Given the description of an element on the screen output the (x, y) to click on. 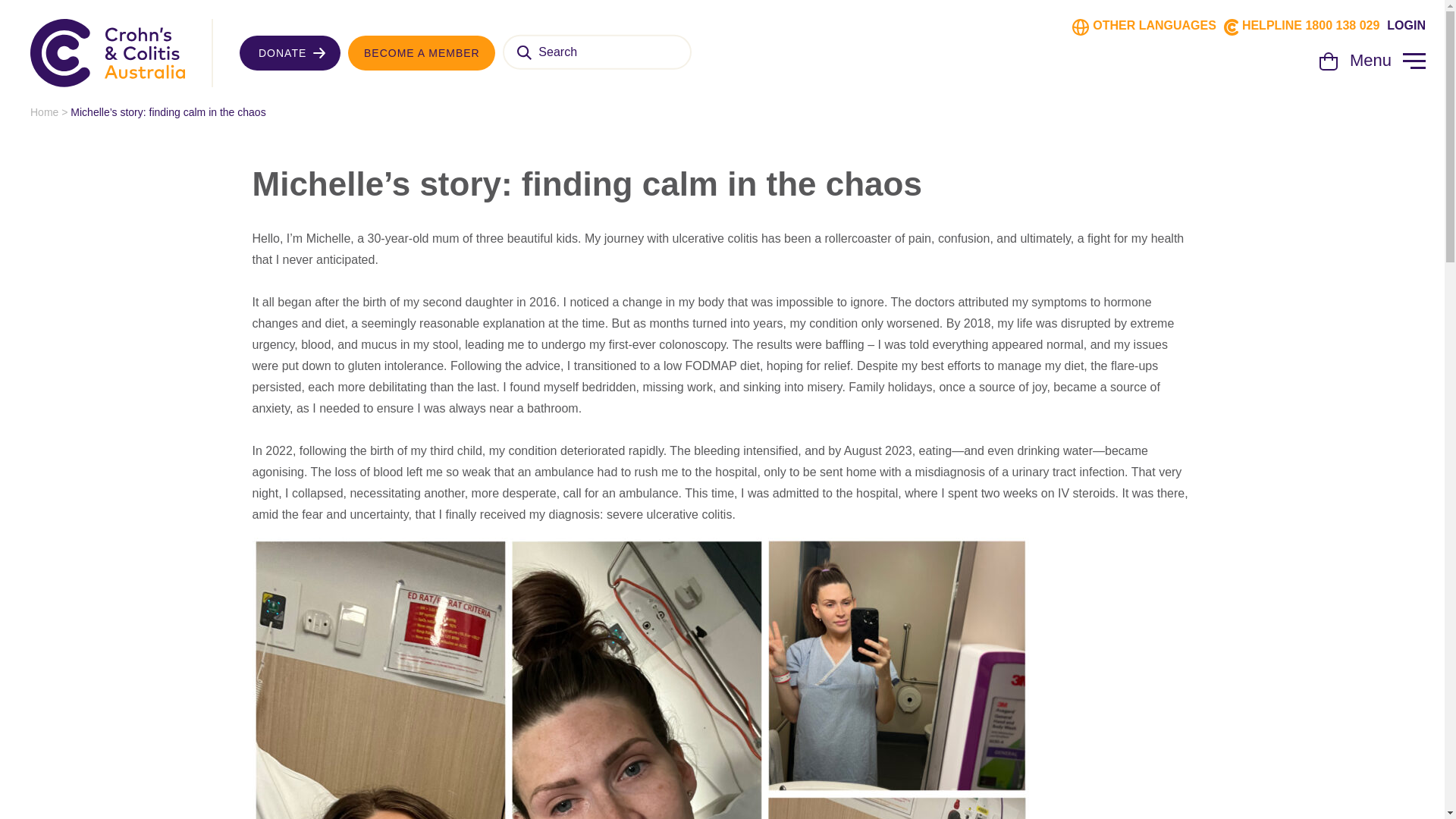
View your shopping cart (1328, 65)
BECOME A MEMBER (421, 53)
Search (523, 53)
Menu (1387, 61)
DONATE (290, 53)
OTHER LANGUAGES (1154, 33)
Cart (1328, 65)
LOGIN (1406, 33)
HELPLINE 1800 138 029 (1309, 33)
